Given the description of an element on the screen output the (x, y) to click on. 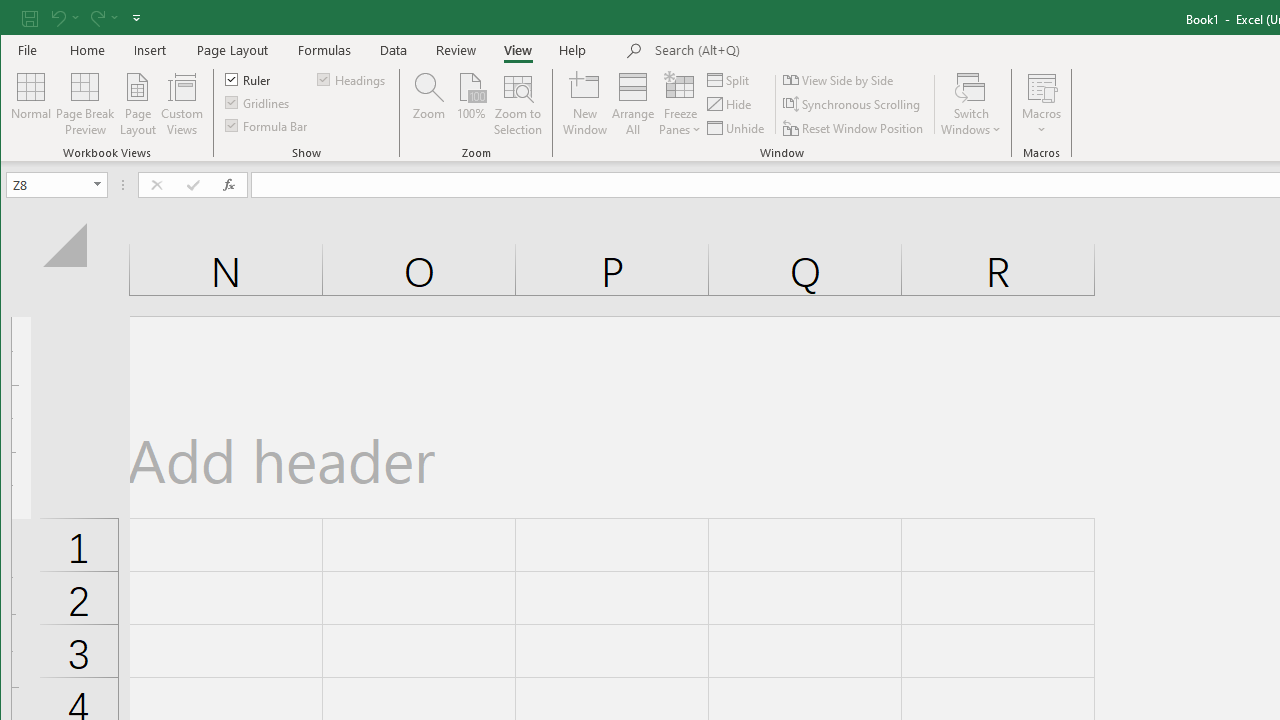
Freeze Panes (680, 104)
New Window (585, 104)
Zoom... (429, 104)
Gridlines (258, 101)
Synchronous Scrolling (852, 103)
Custom Views... (182, 104)
Switch Windows (971, 104)
Hide (730, 103)
